Given the description of an element on the screen output the (x, y) to click on. 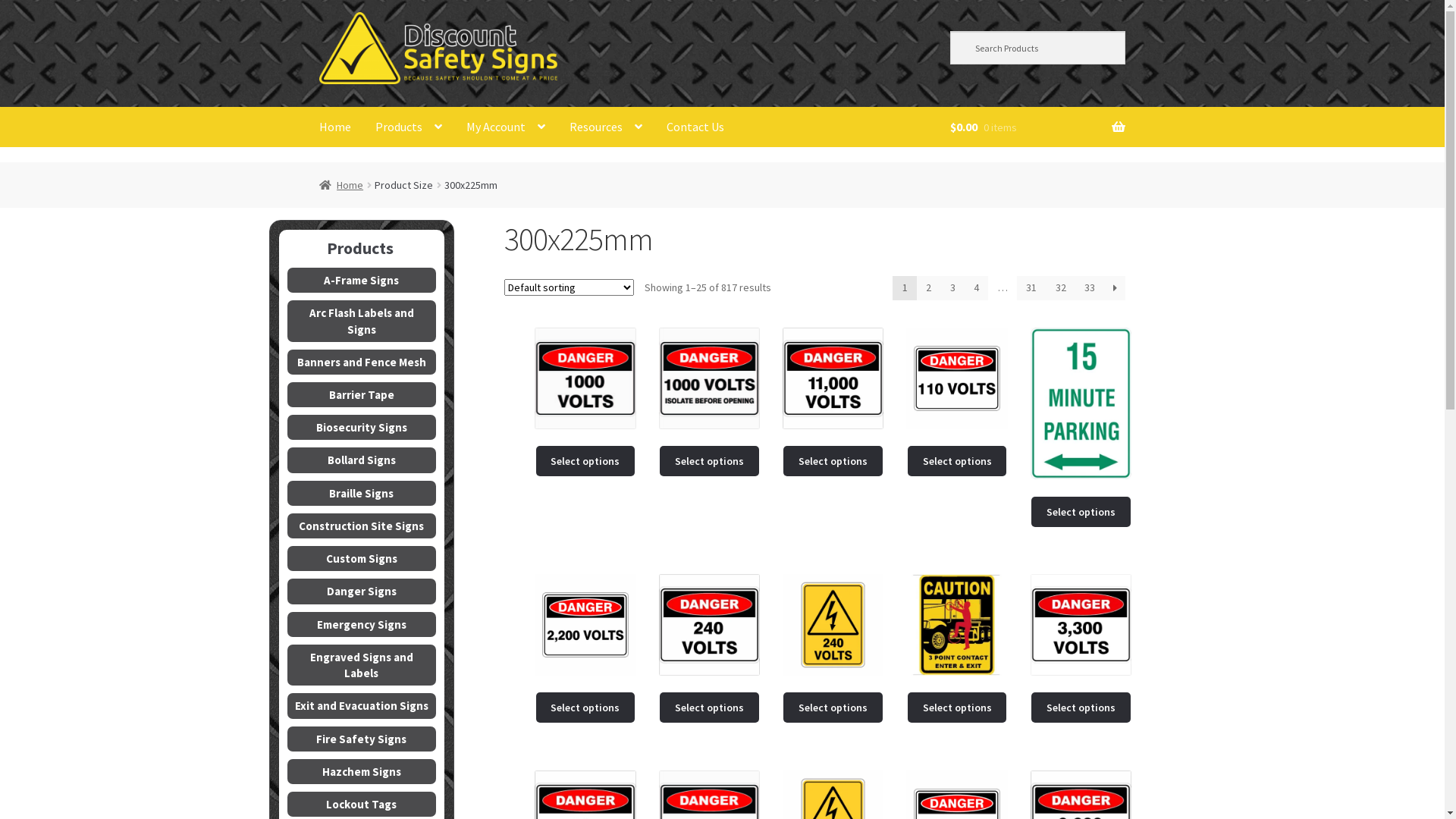
Select options Element type: text (832, 707)
Fire Safety Signs Element type: text (361, 738)
My Account Element type: text (505, 126)
4 Element type: text (976, 288)
Engraved Signs and Labels Element type: text (361, 664)
Danger Signs Element type: text (361, 590)
Banners and Fence Mesh Element type: text (361, 361)
Select options Element type: text (1080, 511)
2 Element type: text (928, 288)
Select options Element type: text (585, 707)
Arc Flash Labels and Signs Element type: text (361, 320)
31 Element type: text (1031, 288)
Exit and Evacuation Signs Element type: text (361, 705)
Select options Element type: text (709, 707)
Select options Element type: text (1080, 707)
Lockout Tags Element type: text (361, 803)
Select options Element type: text (709, 460)
Biosecurity Signs Element type: text (361, 426)
Select options Element type: text (957, 707)
Select options Element type: text (957, 460)
Hazchem Signs Element type: text (361, 771)
Home Element type: text (335, 126)
Contact Us Element type: text (695, 126)
Construction Site Signs Element type: text (361, 525)
Resources Element type: text (605, 126)
$0.00 0 items Element type: text (1037, 126)
Custom Signs Element type: text (361, 558)
33 Element type: text (1089, 288)
Products Element type: text (408, 126)
A-Frame Signs Element type: text (361, 279)
32 Element type: text (1060, 288)
3 Element type: text (952, 288)
Emergency Signs Element type: text (361, 624)
Barrier Tape Element type: text (361, 394)
Home Element type: text (341, 184)
Bollard Signs Element type: text (361, 459)
Select options Element type: text (585, 460)
Braille Signs Element type: text (361, 492)
Select options Element type: text (832, 460)
